Given the description of an element on the screen output the (x, y) to click on. 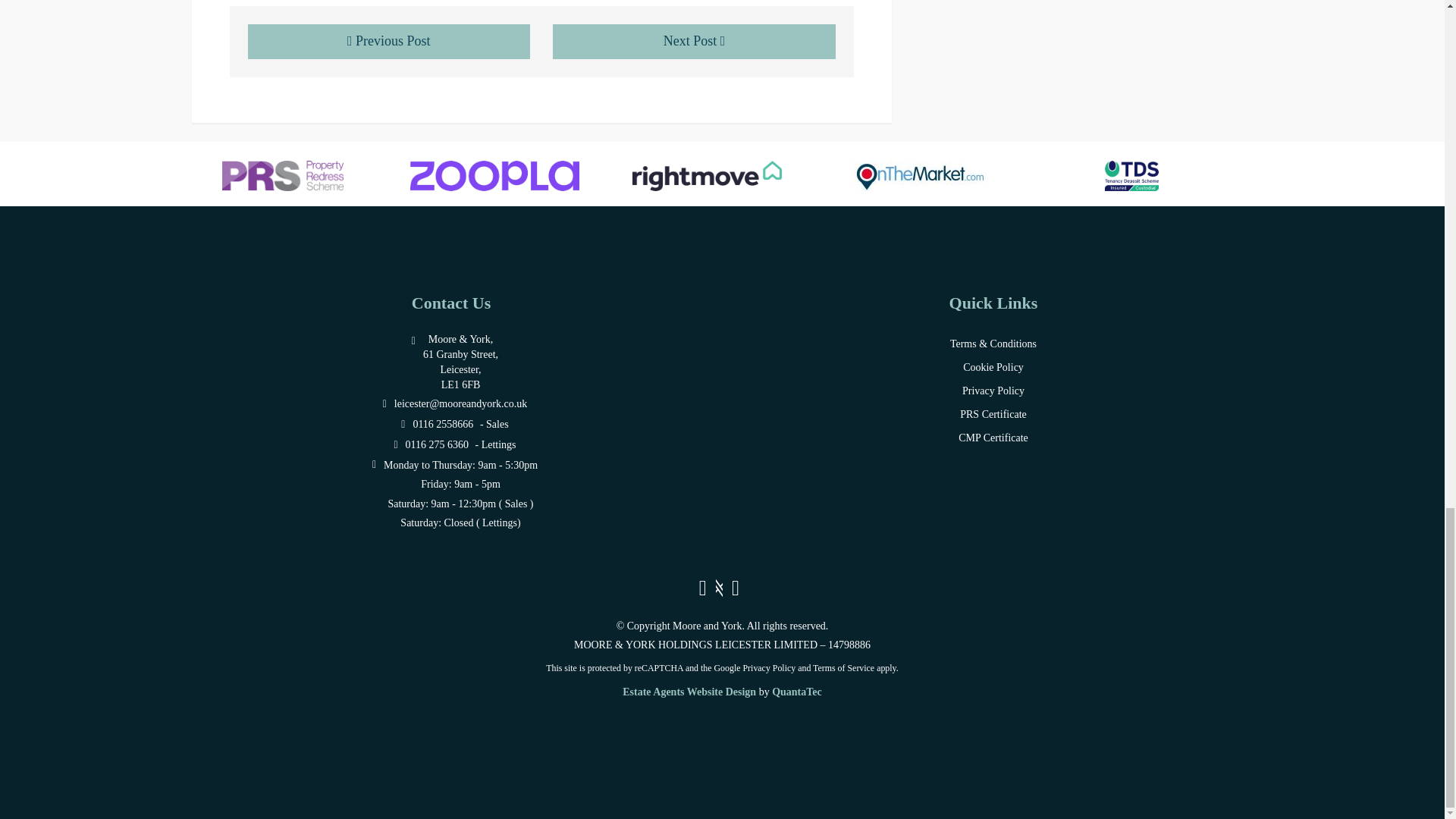
Previous Post (388, 41)
Next Post (694, 41)
